Given the description of an element on the screen output the (x, y) to click on. 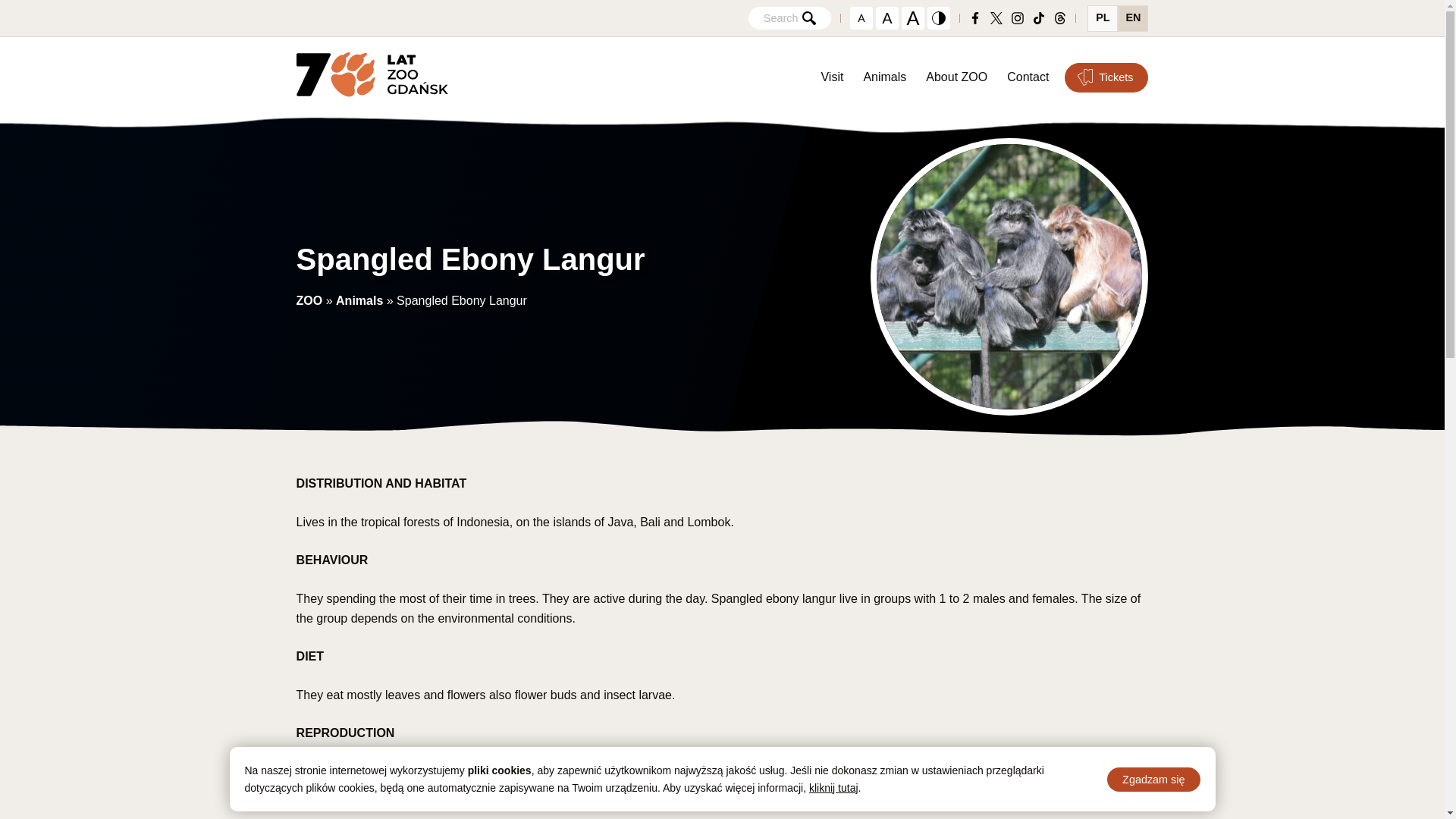
Contact (1027, 77)
ZOO X (996, 18)
ZOO Instagram (1017, 18)
Animals (884, 77)
Facebook (975, 18)
Search (789, 17)
ZOO Instagram Threads (1059, 18)
Search (789, 17)
ZOO Facebook (975, 18)
About ZOO (956, 77)
EN (1133, 17)
Homepage (372, 77)
Toggle contrast level (938, 17)
portal X (996, 18)
Homepage (372, 77)
